Given the description of an element on the screen output the (x, y) to click on. 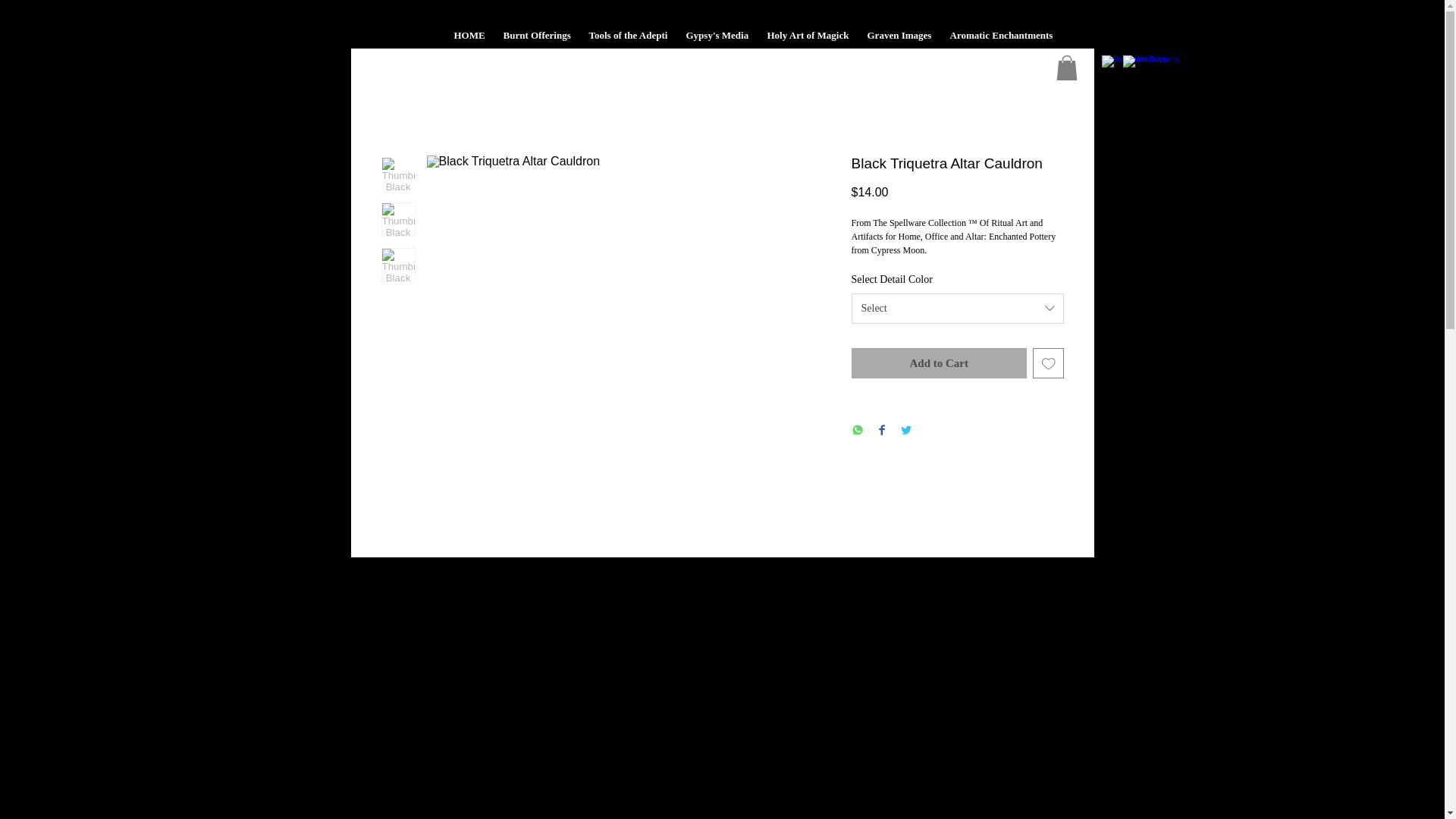
Select (956, 308)
Burnt Offerings (537, 39)
Holy Art of Magick (808, 39)
HOME (468, 39)
Tools of the Adepti (628, 39)
Gypsy's Media (717, 39)
Add to Cart (938, 363)
